Given the description of an element on the screen output the (x, y) to click on. 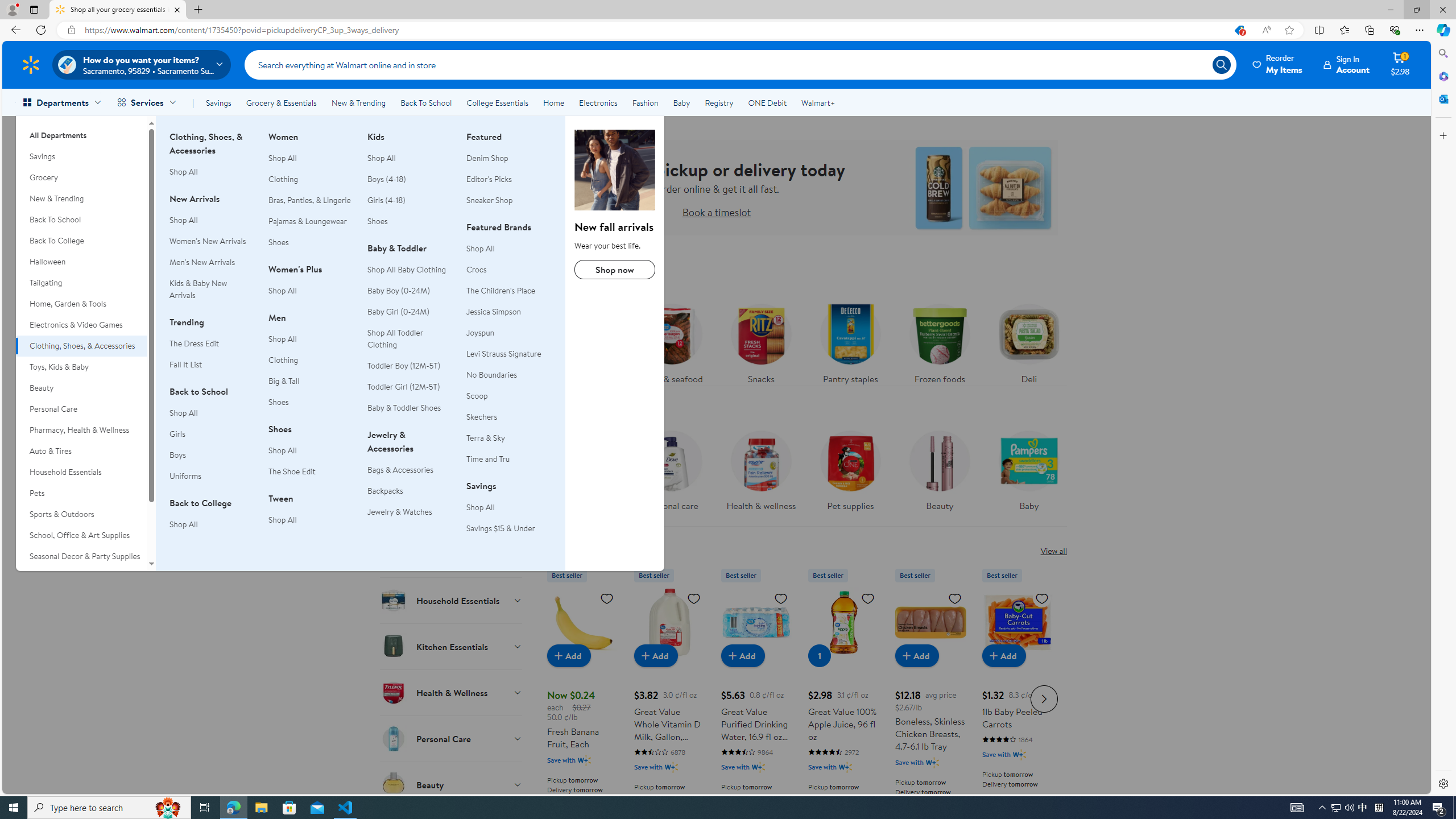
Beauty (938, 473)
Fresh Food (451, 323)
Baby Boy (0-24M) (409, 290)
Add to cart - 1lb Baby Peeled Carrots (1004, 655)
1 in cart, Great Value 100% Apple Juice, 96 fl oz (819, 655)
The Children's Place (508, 290)
Back to CollegeShop All (211, 520)
Deli (1029, 340)
Reorder My Items (1277, 64)
Shoes (409, 221)
Household essentials (582, 473)
Tailgating (81, 282)
Back To School (425, 102)
Halloween (81, 261)
